Given the description of an element on the screen output the (x, y) to click on. 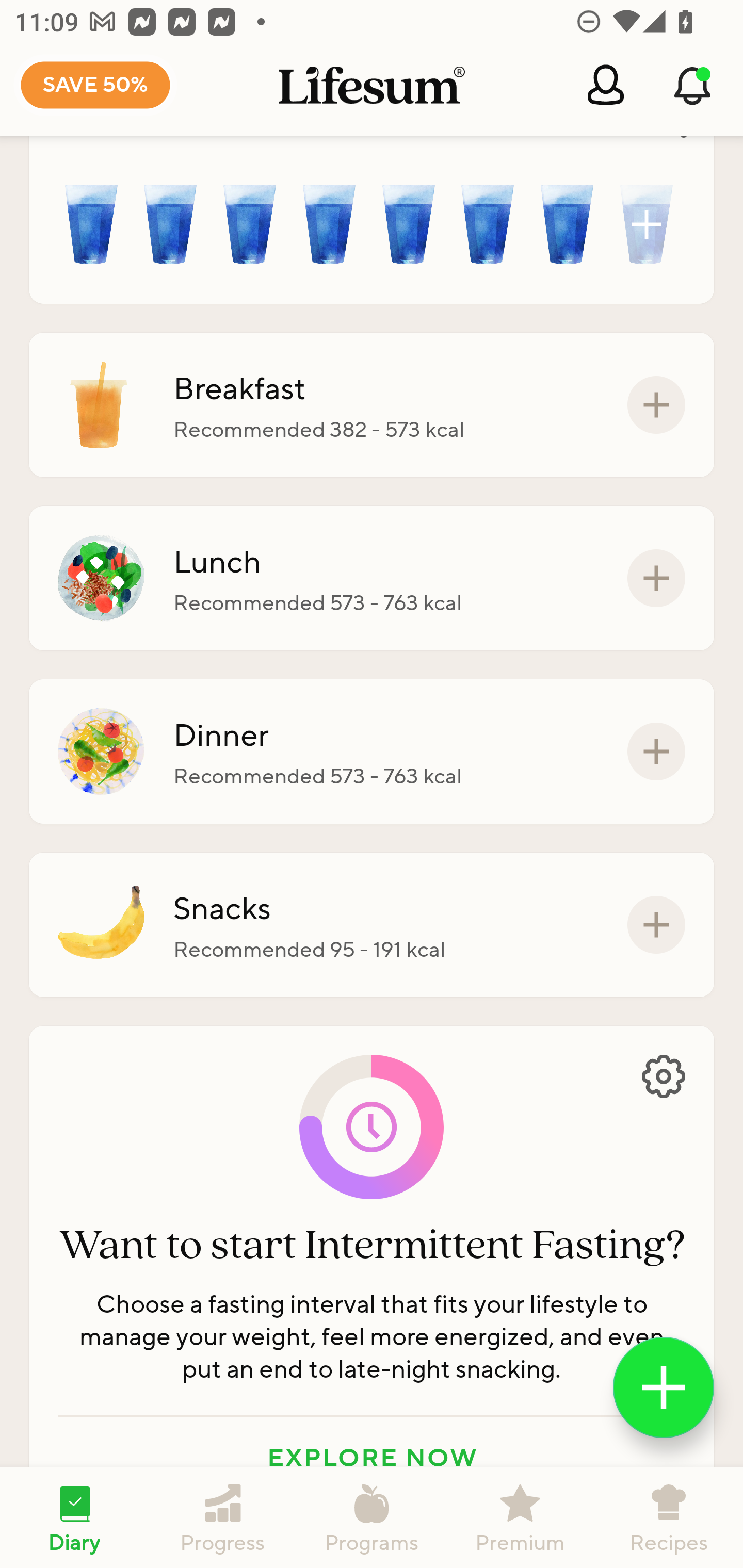
Breakfast Recommended 382 - 573 kcal (371, 404)
Lunch Recommended 573 - 763 kcal (371, 578)
Dinner Recommended 573 - 763 kcal (371, 750)
Snacks Recommended 95 - 191 kcal (371, 924)
Progress (222, 1517)
Programs (371, 1517)
Premium (519, 1517)
Recipes (668, 1517)
